Given the description of an element on the screen output the (x, y) to click on. 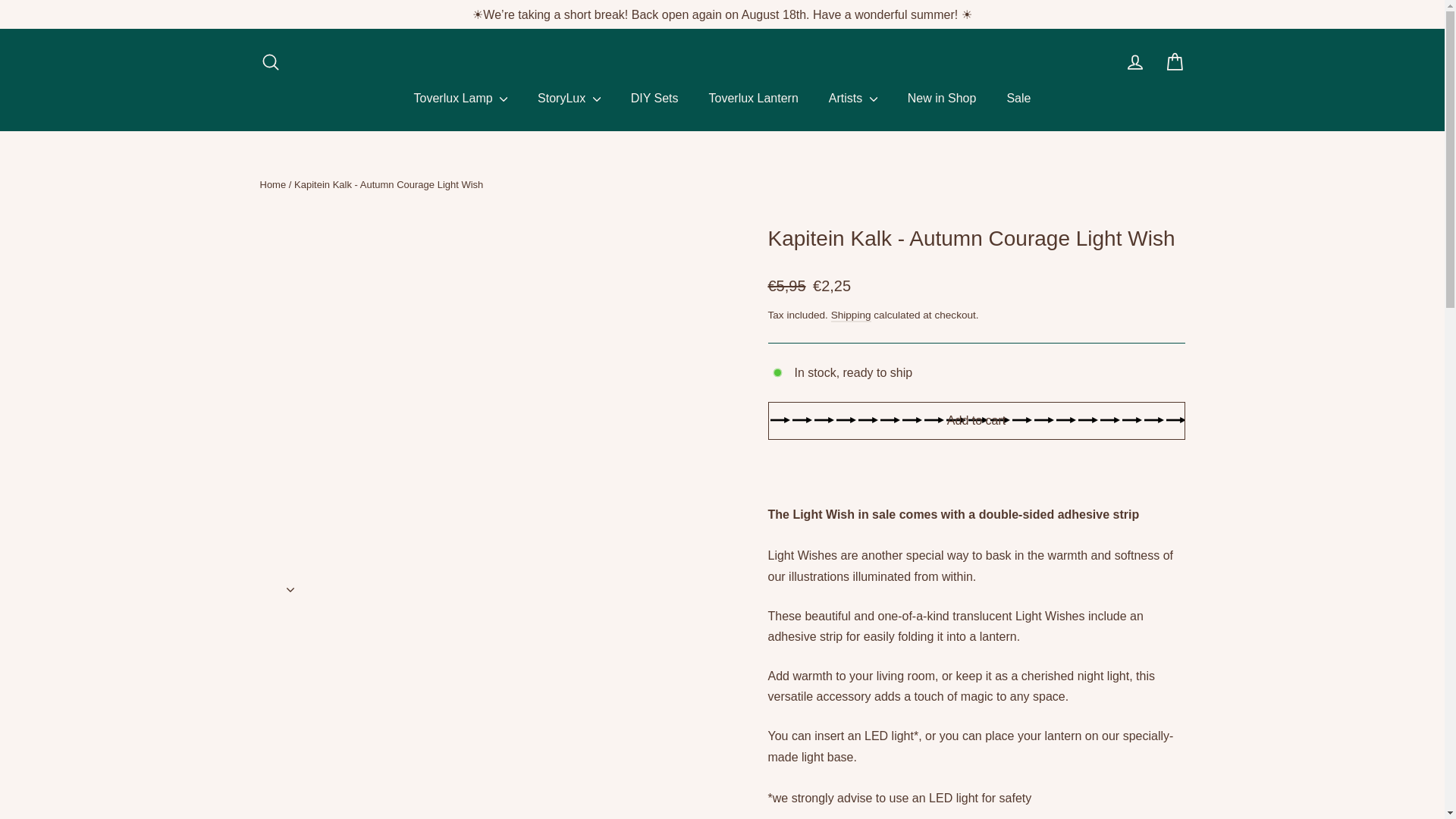
Back to the frontpage (272, 184)
